Given the description of an element on the screen output the (x, y) to click on. 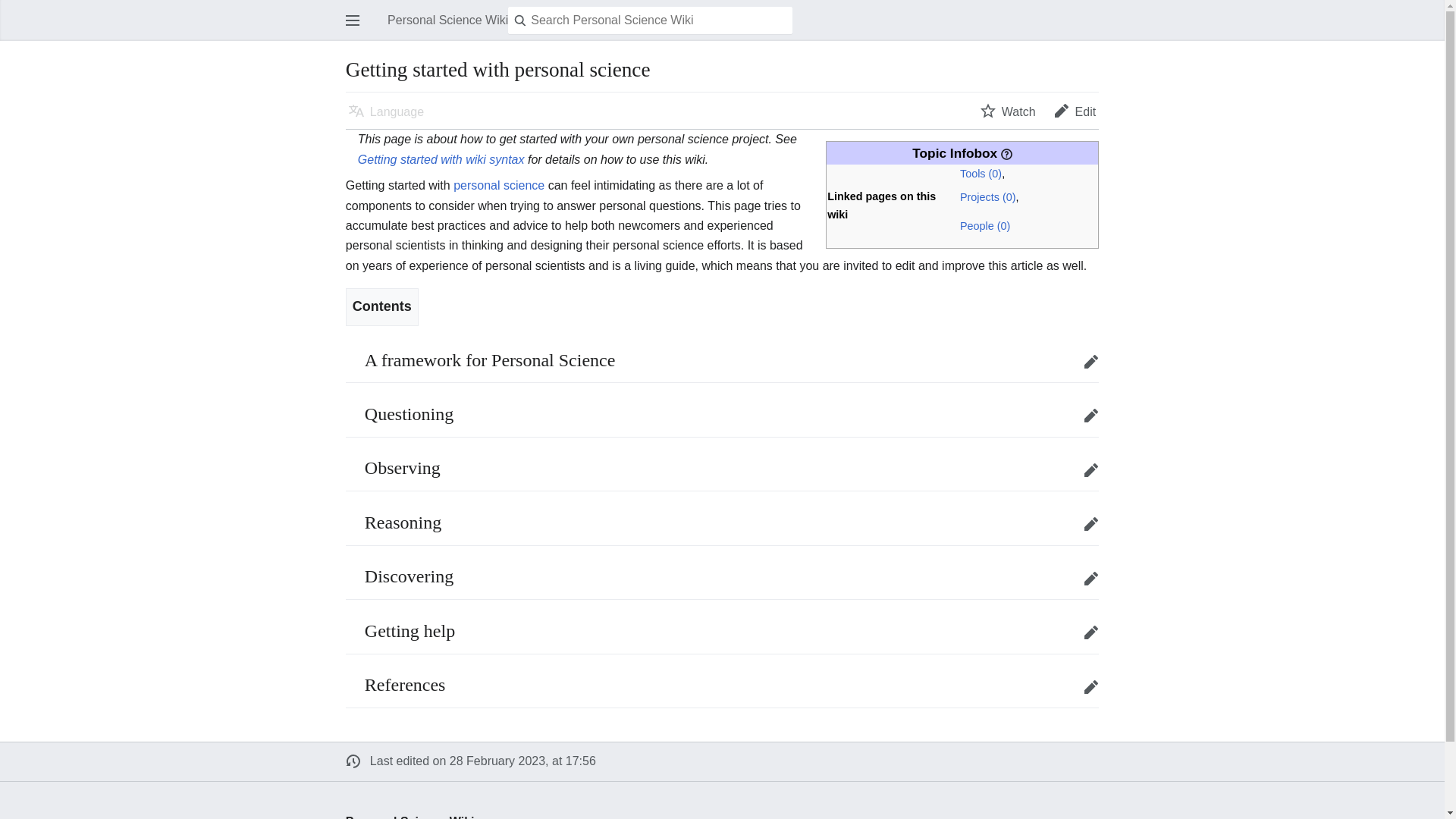
Edit (1075, 110)
Edit section: Questioning (1091, 415)
Personal science (498, 185)
Edit section: A framework for Personal Science (1091, 361)
Watch (1008, 110)
Watch (1008, 110)
Language (385, 110)
personal science (498, 185)
Getting started with wiki syntax (441, 159)
Help:Getting started with wiki syntax (441, 159)
Open main menu (352, 20)
Edit the lead section of this page (1075, 110)
Language (385, 110)
